Given the description of an element on the screen output the (x, y) to click on. 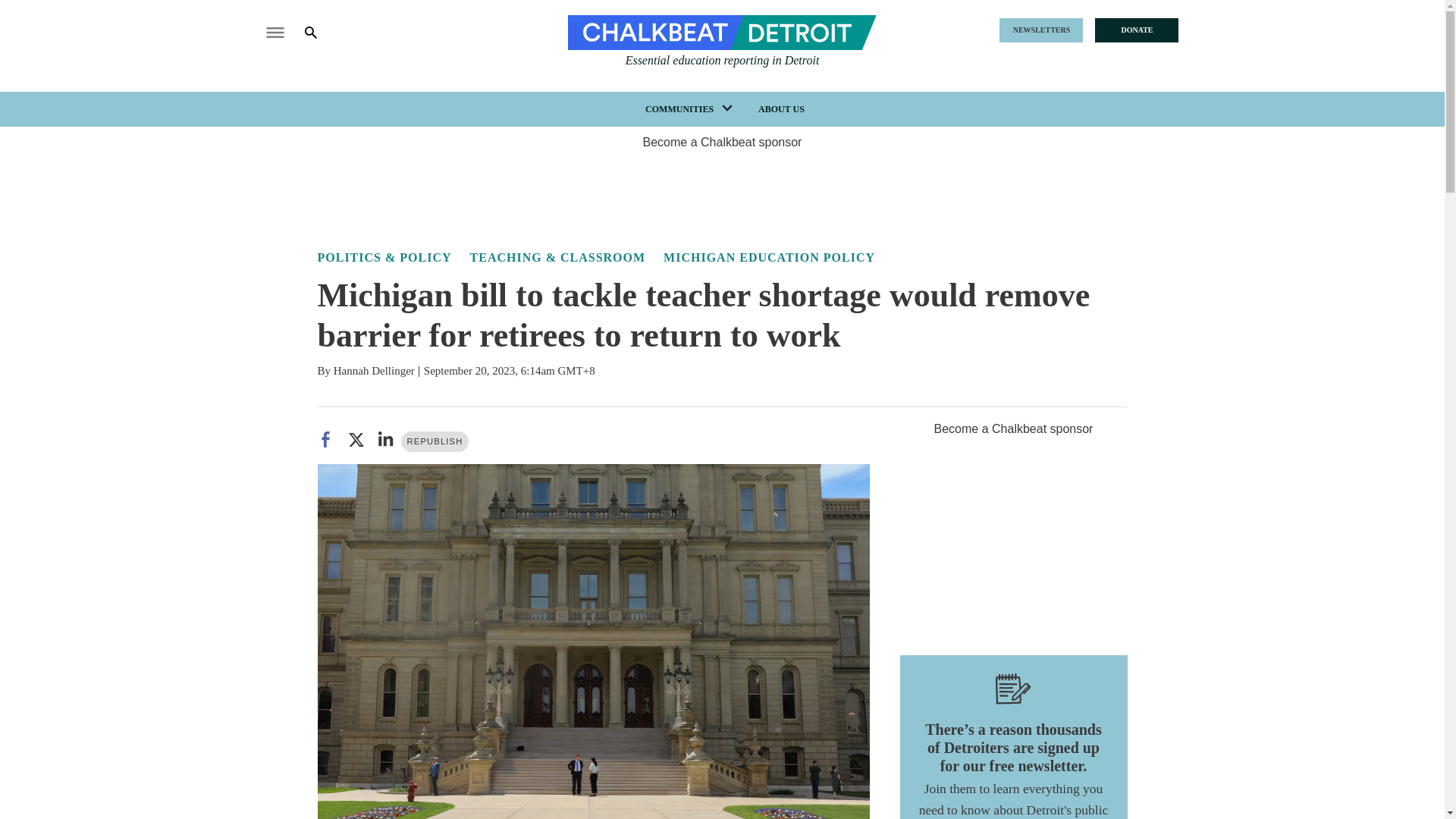
SHOW SEARCH (321, 32)
NEWSLETTERS (1040, 30)
Become a Chalkbeat sponsor (722, 141)
ABOUT US (781, 109)
MICHIGAN EDUCATION POLICY (769, 256)
DONATE (1135, 30)
Hannah Dellinger (373, 370)
